Given the description of an element on the screen output the (x, y) to click on. 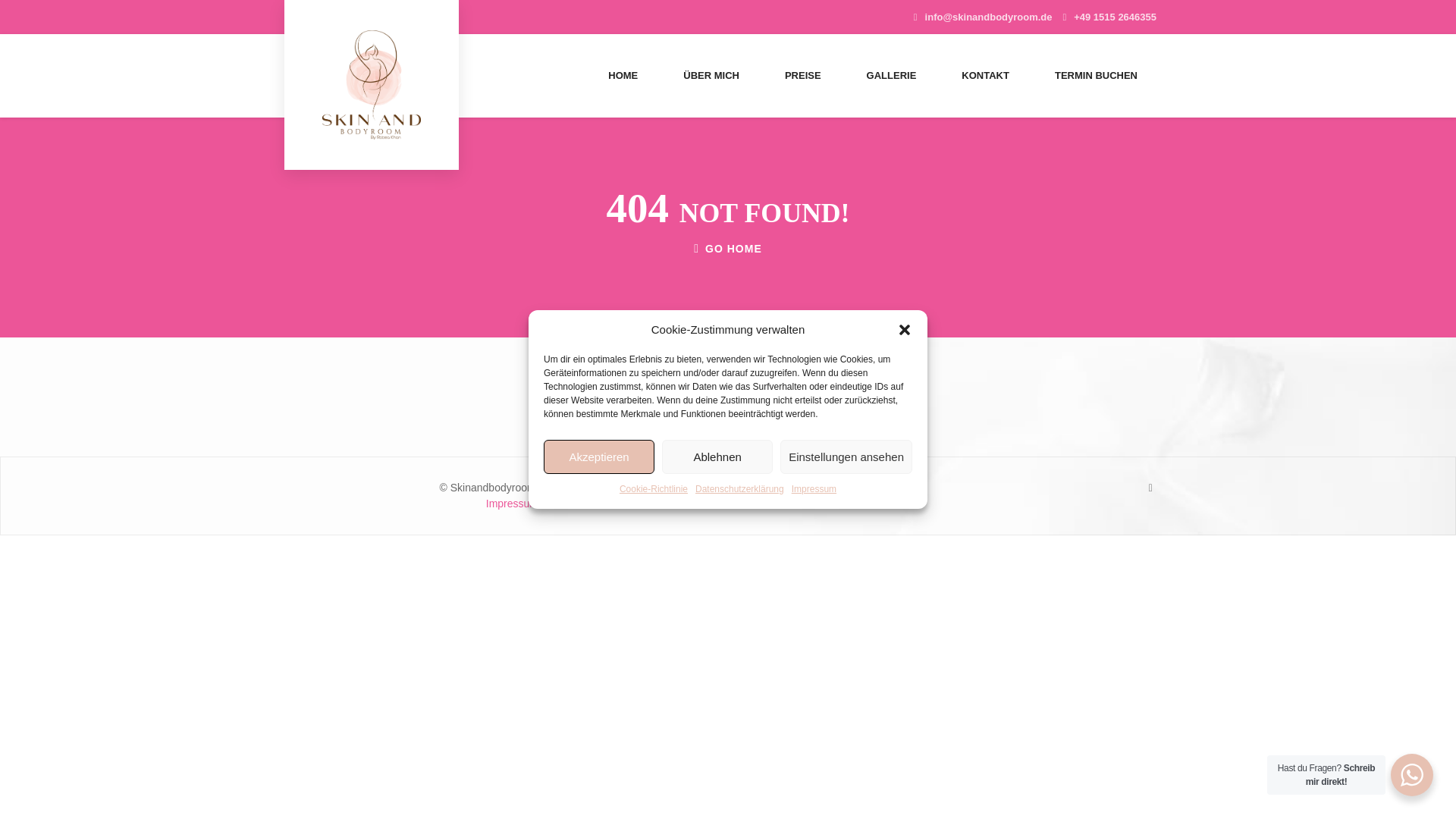
KONTAKT (985, 75)
Impressum (512, 503)
PREISE (802, 75)
GALLERIE (891, 75)
Datenschutz (570, 503)
Cookie-Richtlinie (653, 489)
TERMIN BUCHEN (1096, 75)
Impressum (813, 489)
GO HOME (727, 248)
Einstellungen ansehen (846, 456)
Akzeptieren (598, 456)
HOME (623, 75)
Ablehnen (717, 456)
